Given the description of an element on the screen output the (x, y) to click on. 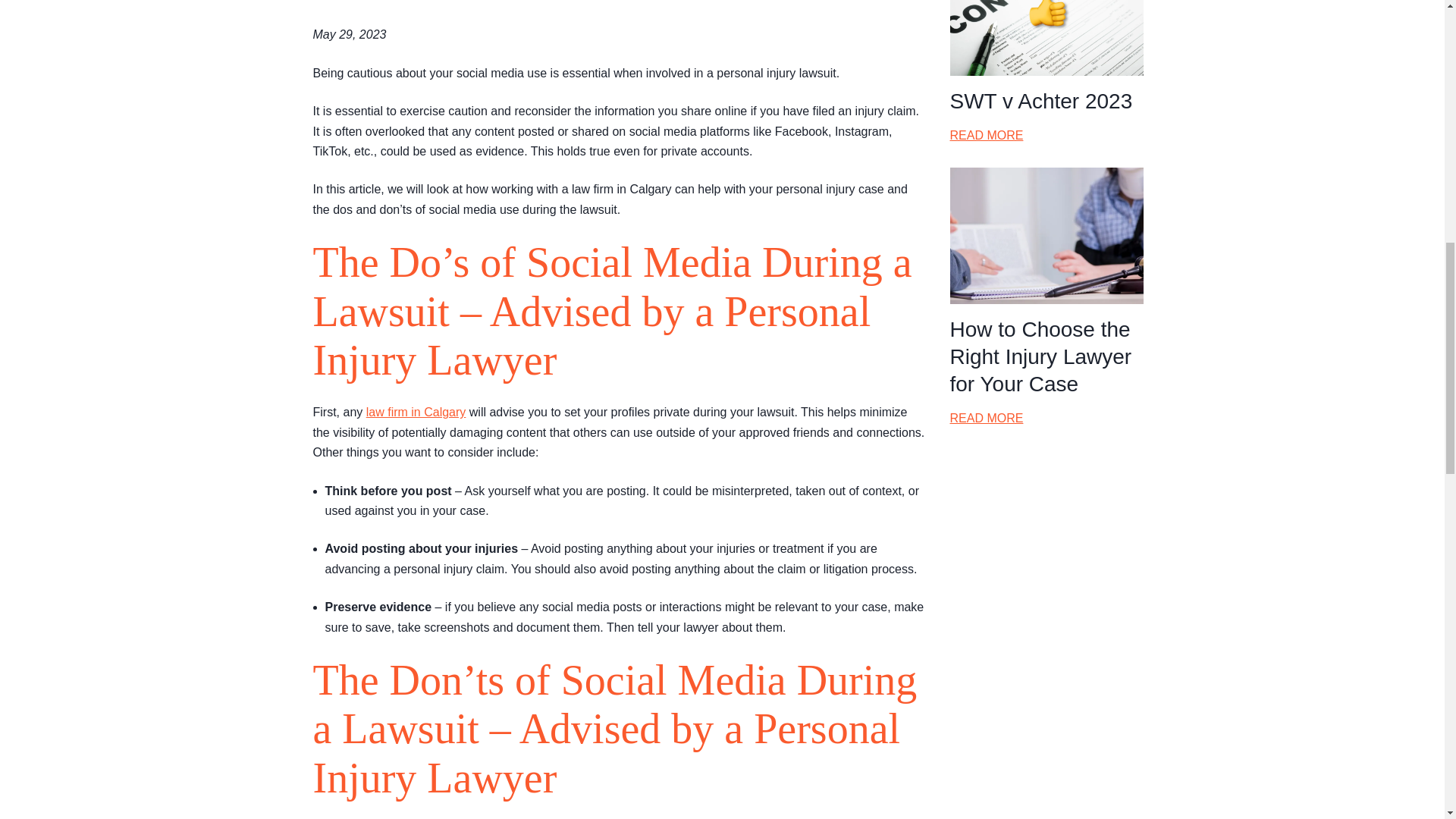
law firm in Calgary (415, 411)
